Given the description of an element on the screen output the (x, y) to click on. 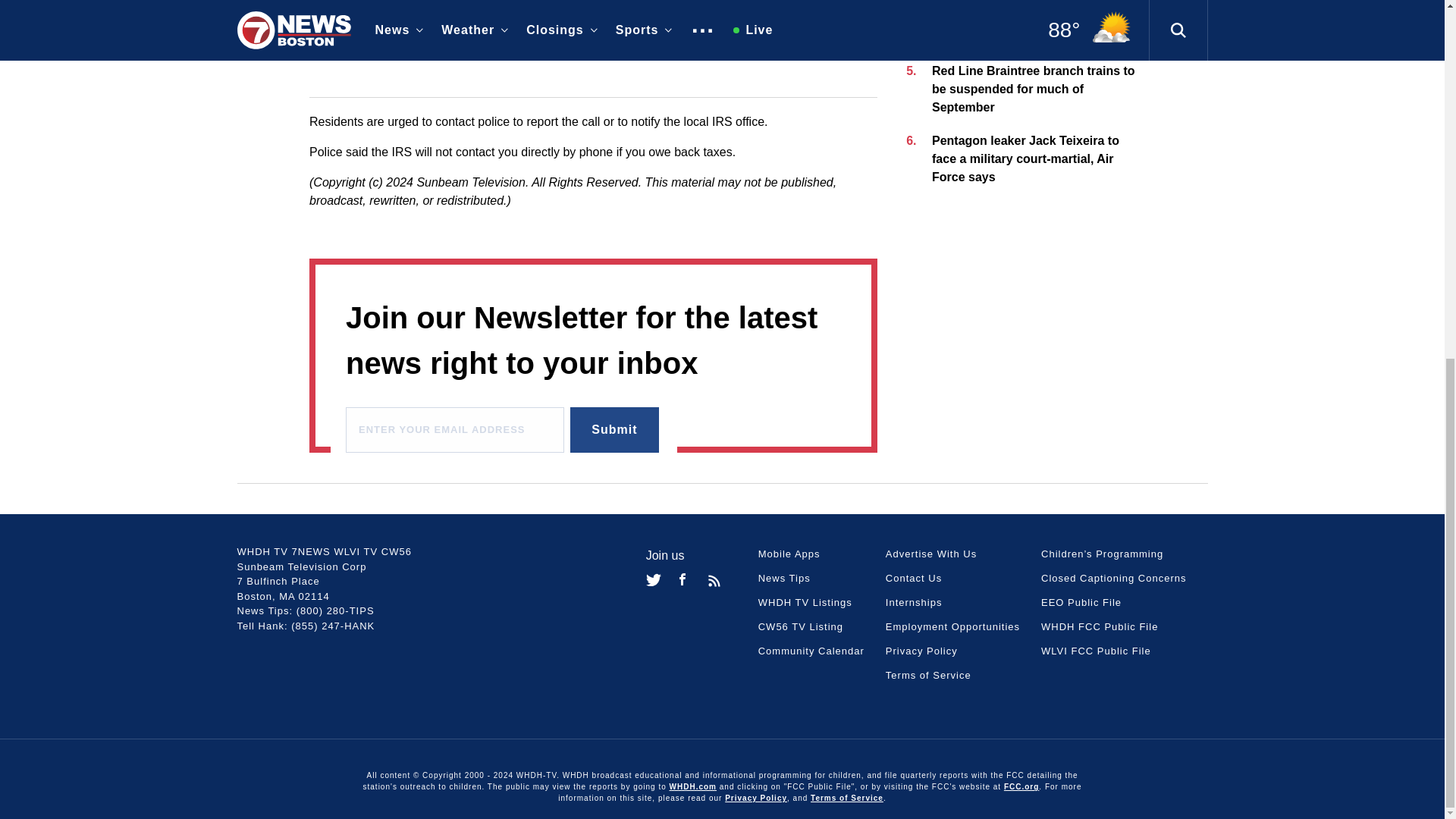
3rd party ad content (593, 18)
